Given the description of an element on the screen output the (x, y) to click on. 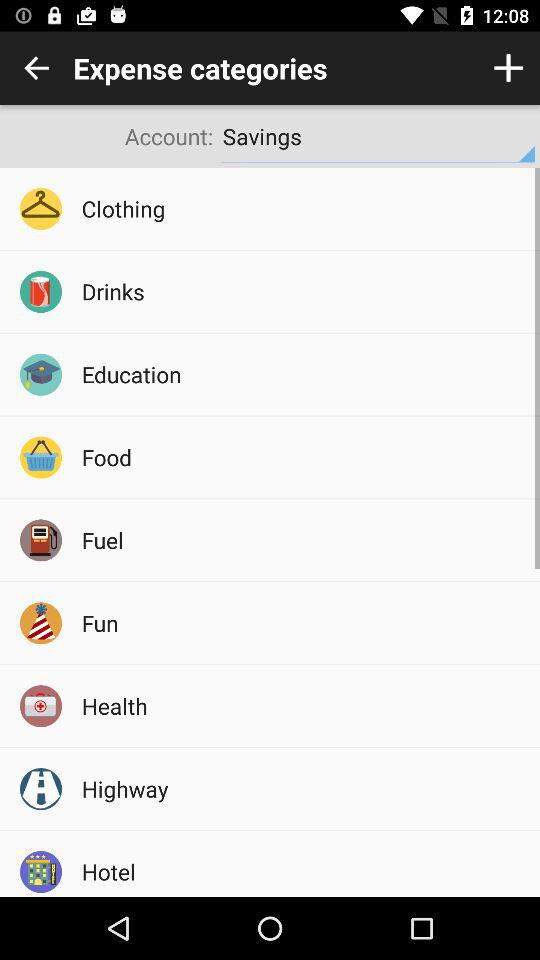
scroll until the fuel (303, 540)
